Given the description of an element on the screen output the (x, y) to click on. 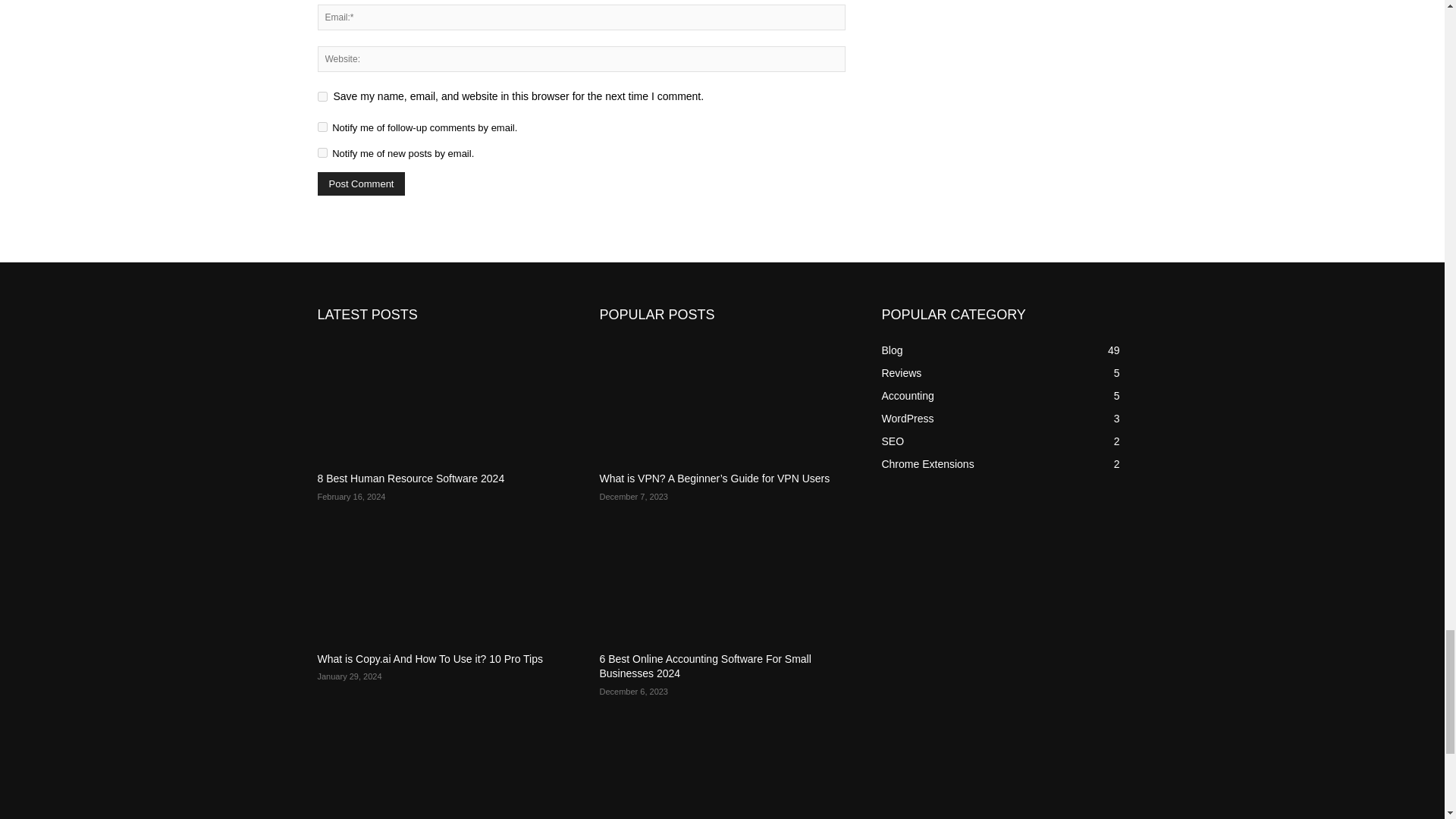
subscribe (321, 153)
Post Comment (360, 183)
subscribe (321, 126)
yes (321, 96)
